Given the description of an element on the screen output the (x, y) to click on. 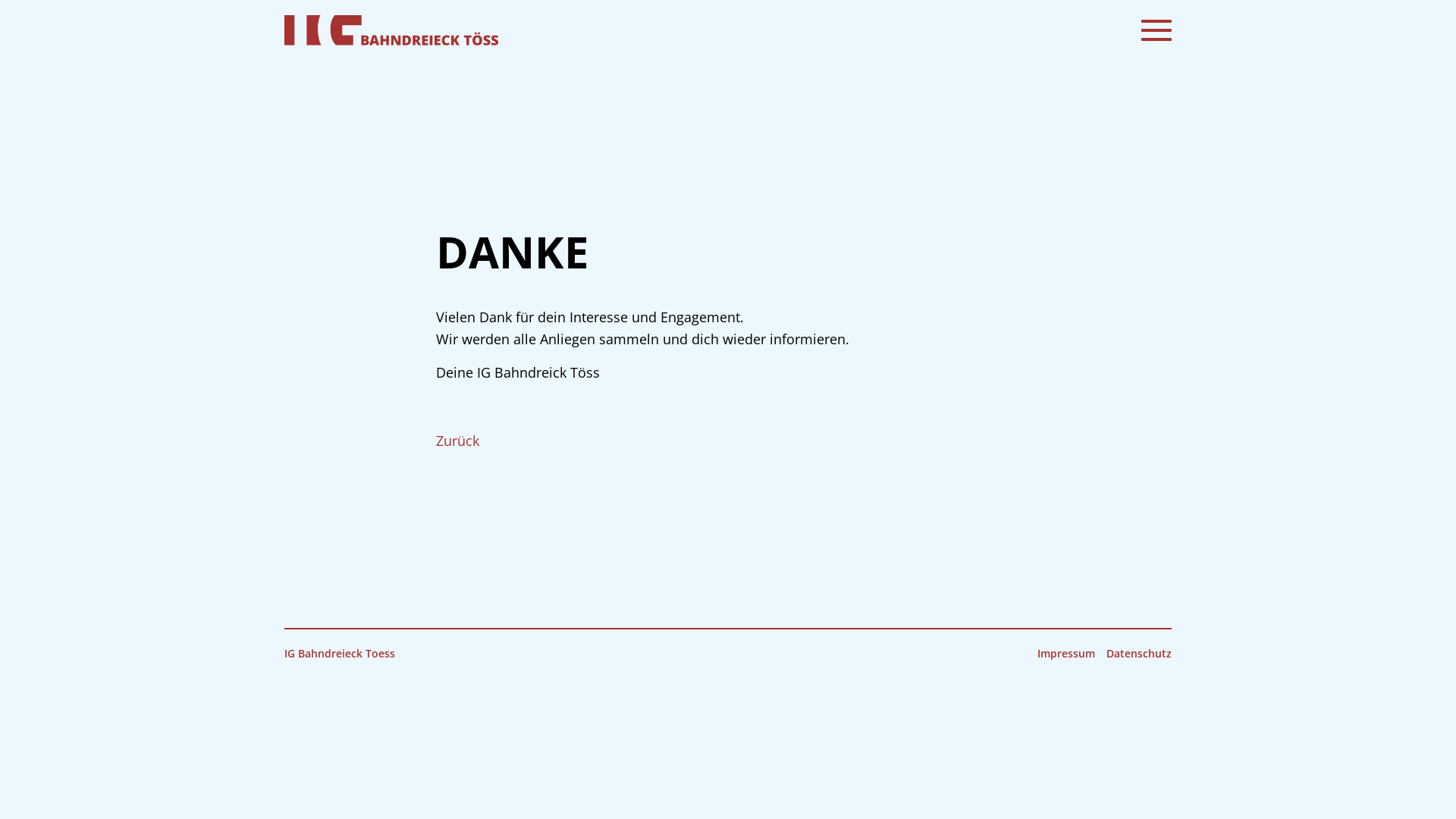
IG Bahndreieck Toess Element type: text (339, 653)
Datenschutz Element type: text (1138, 653)
Impressum Element type: text (1066, 653)
